Given the description of an element on the screen output the (x, y) to click on. 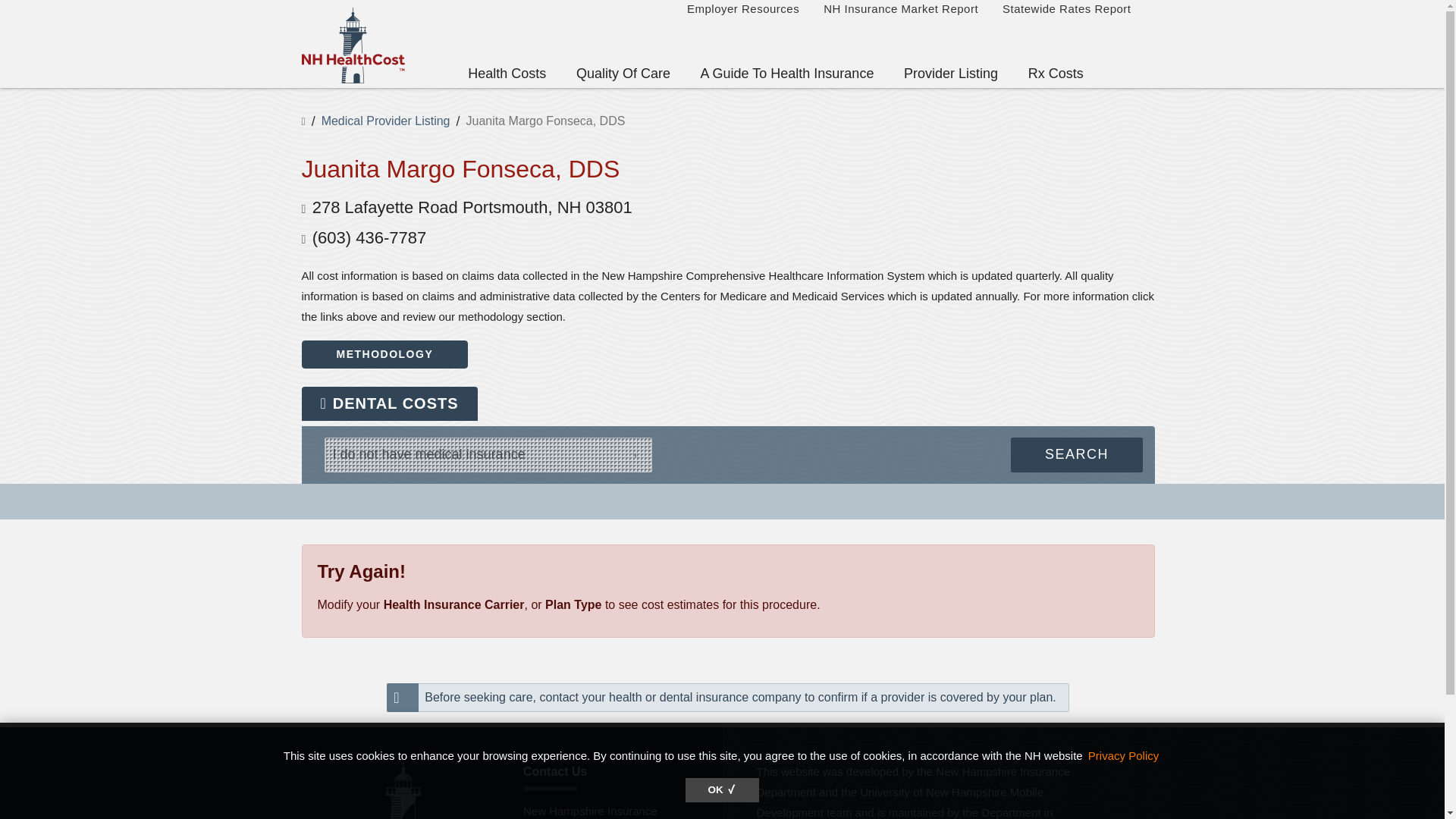
Employer Resources (742, 12)
Health Costs (507, 72)
Rx Costs (1056, 72)
A Guide To Health Insurance (786, 72)
NH Insurance Market Report (900, 12)
Quality Of Care (622, 72)
Search (1076, 454)
METHODOLOGY (384, 354)
Statewide Rates Report (1066, 12)
